Given the description of an element on the screen output the (x, y) to click on. 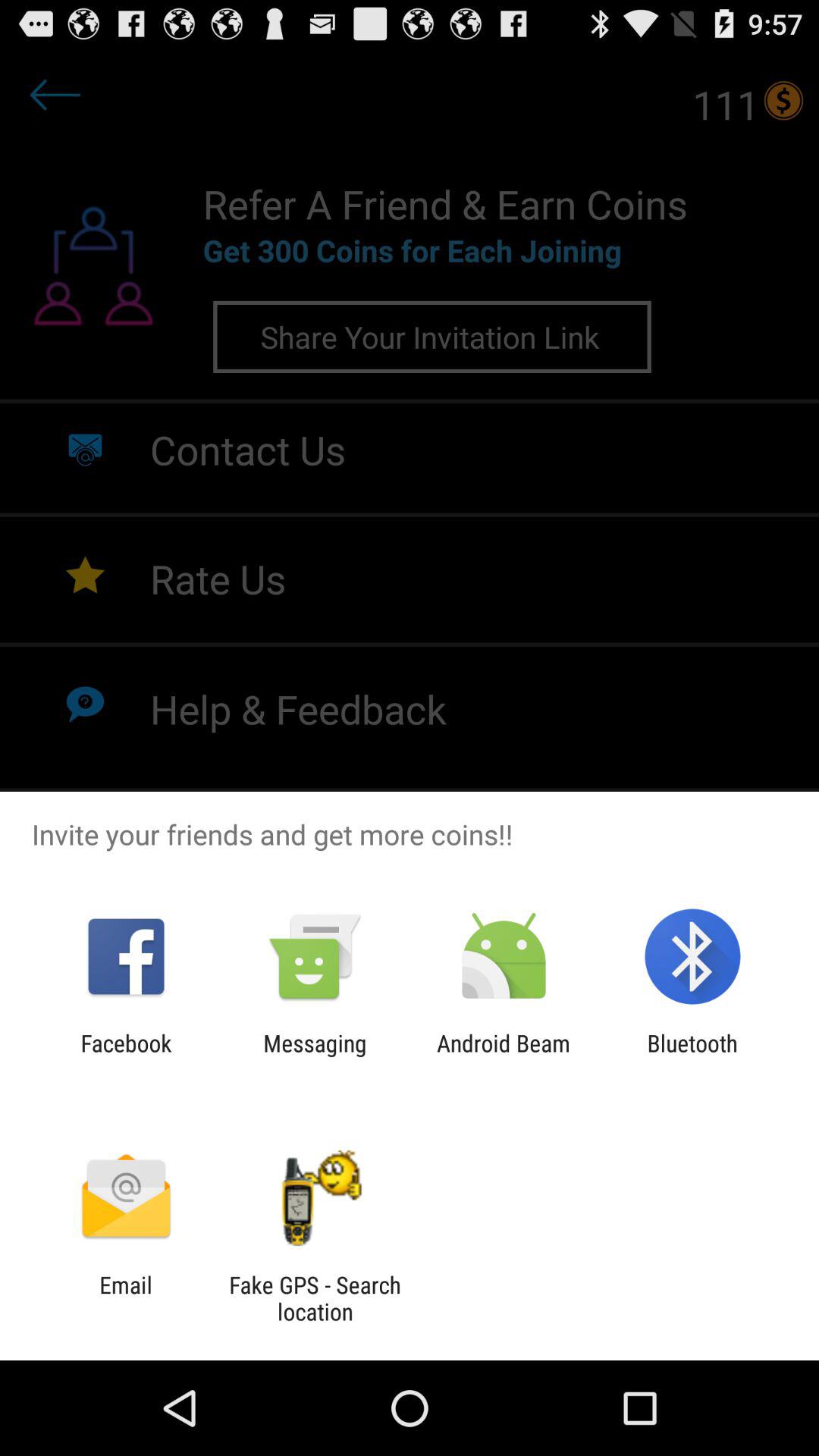
turn on the icon next to the facebook app (314, 1056)
